Given the description of an element on the screen output the (x, y) to click on. 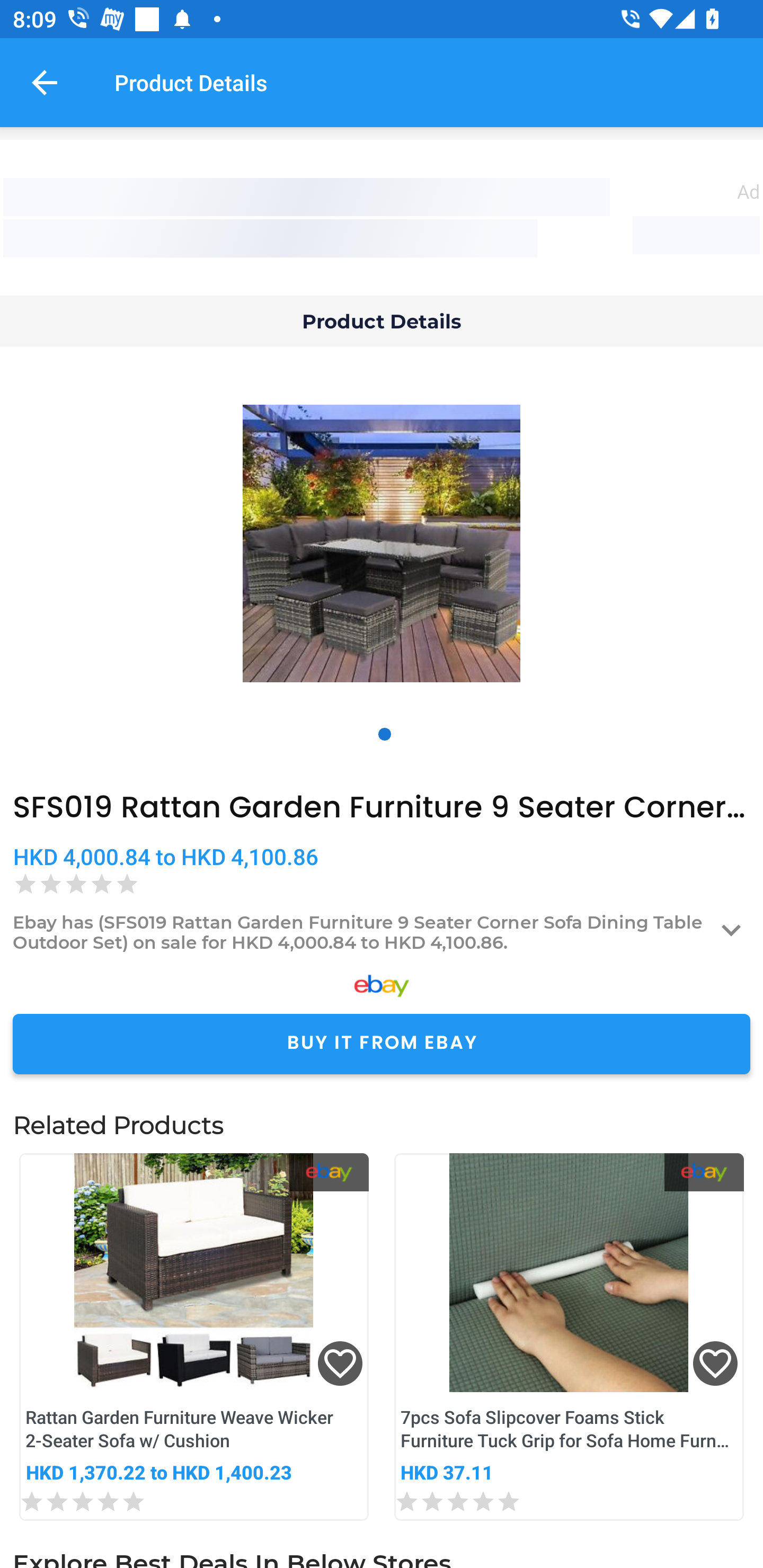
Navigate up (44, 82)
BUY IT FROM EBAY (381, 1044)
